Given the description of an element on the screen output the (x, y) to click on. 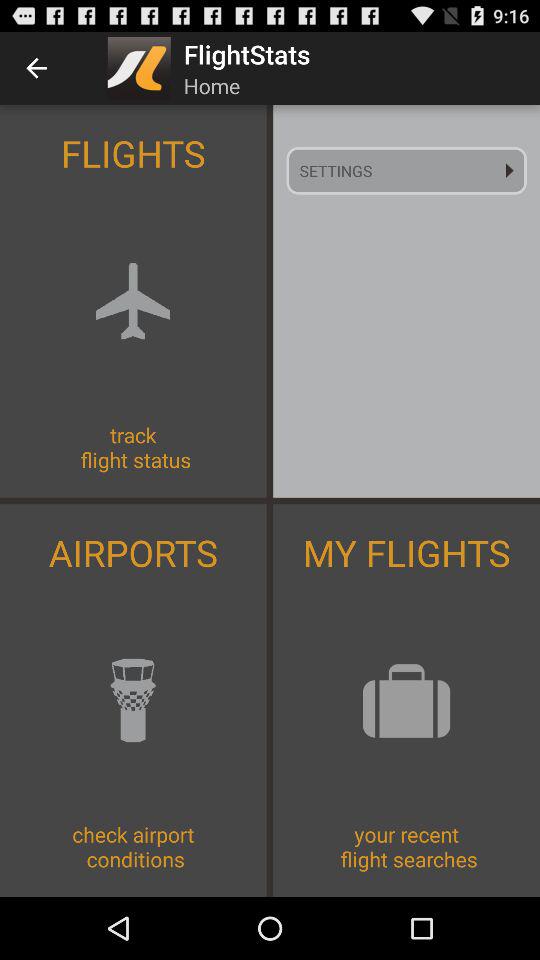
turn off the item below the flightstats (406, 170)
